Given the description of an element on the screen output the (x, y) to click on. 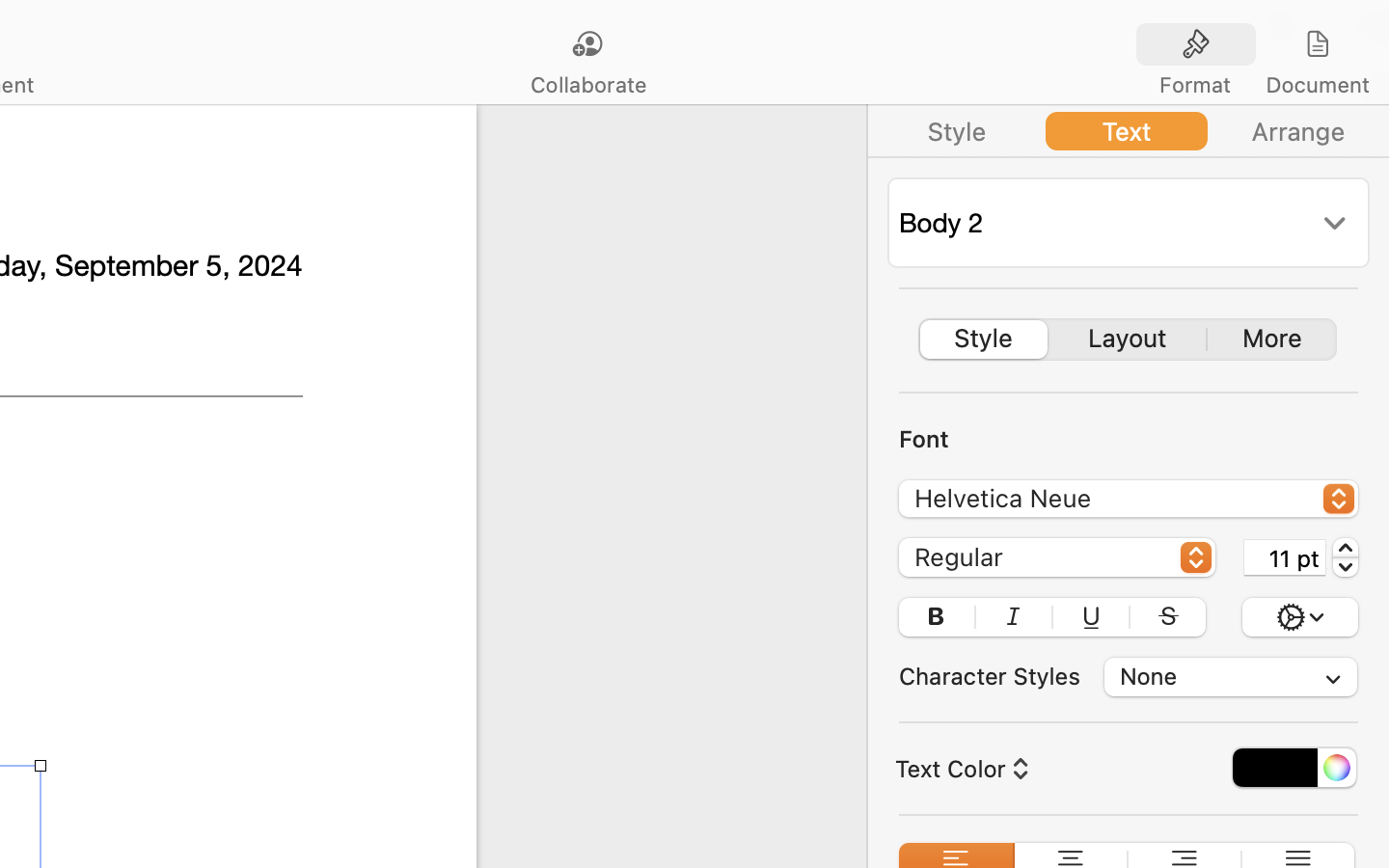
Helvetica Neue Element type: AXPopUpButton (1129, 501)
Text Color Element type: AXPopUpButton (959, 768)
Document Element type: AXStaticText (1316, 84)
<AXUIElement 0x29036f760> {pid=1482} Element type: AXRadioGroup (1128, 131)
